Given the description of an element on the screen output the (x, y) to click on. 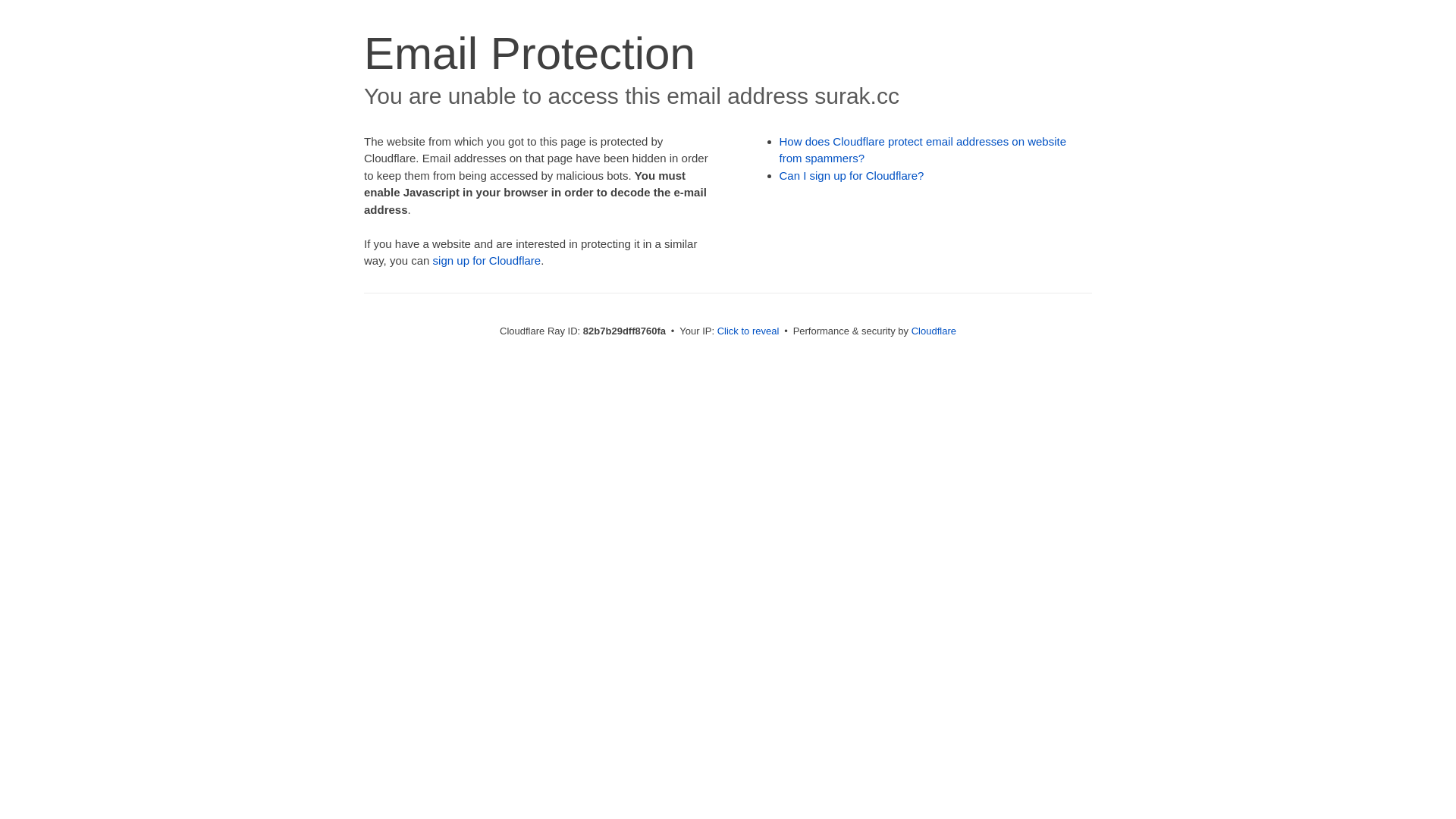
Click to reveal Element type: text (748, 330)
Can I sign up for Cloudflare? Element type: text (851, 175)
Cloudflare Element type: text (933, 330)
sign up for Cloudflare Element type: text (487, 260)
